Given the description of an element on the screen output the (x, y) to click on. 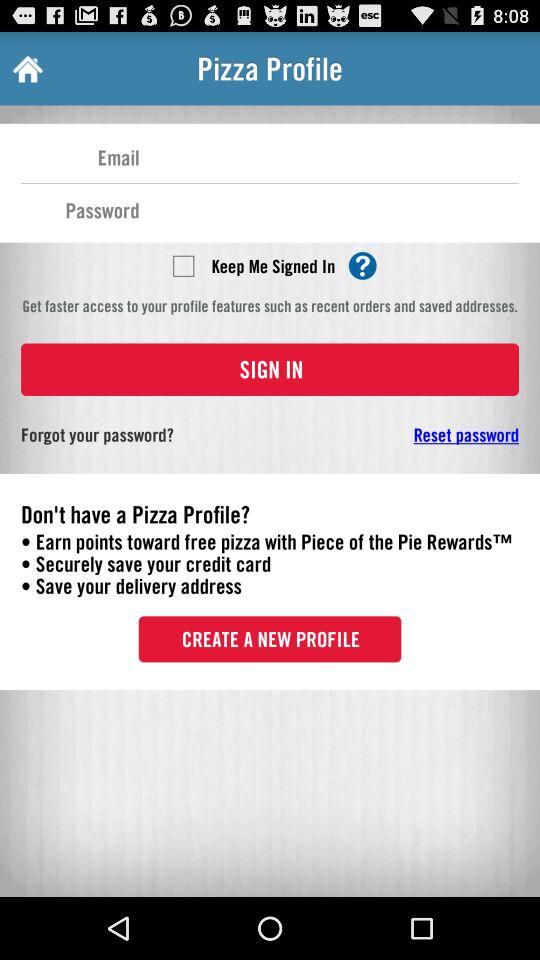
turn on app on the right (406, 434)
